Given the description of an element on the screen output the (x, y) to click on. 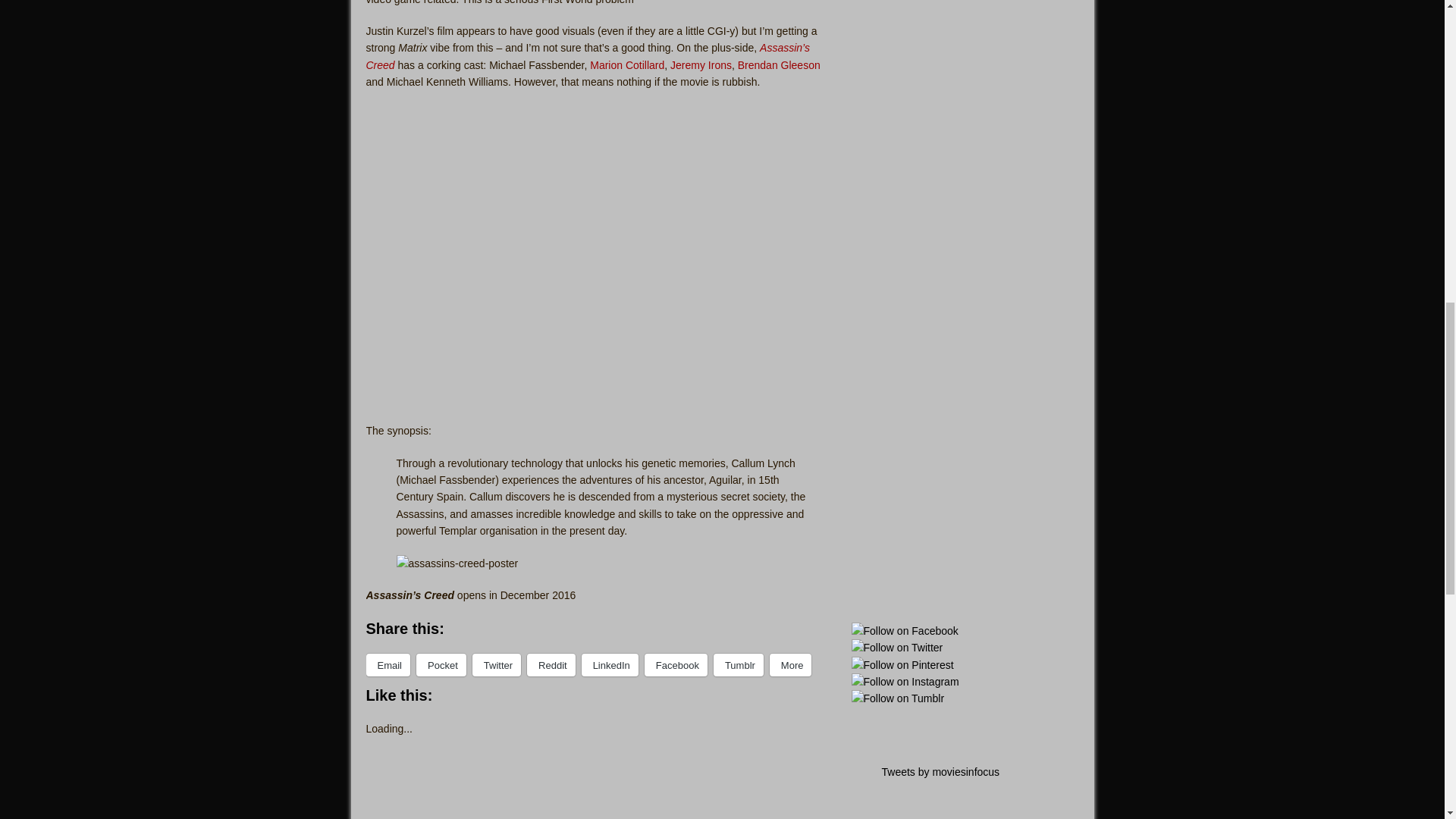
Click to share on Tumblr (737, 664)
Click to share on Facebook (676, 664)
Click to email a link to a friend (387, 664)
Twitter (496, 664)
Facebook (676, 664)
Click to share on Reddit (551, 664)
More (791, 664)
Jeremy Irons (700, 64)
Brendan Gleeson (779, 64)
LinkedIn (609, 664)
